Given the description of an element on the screen output the (x, y) to click on. 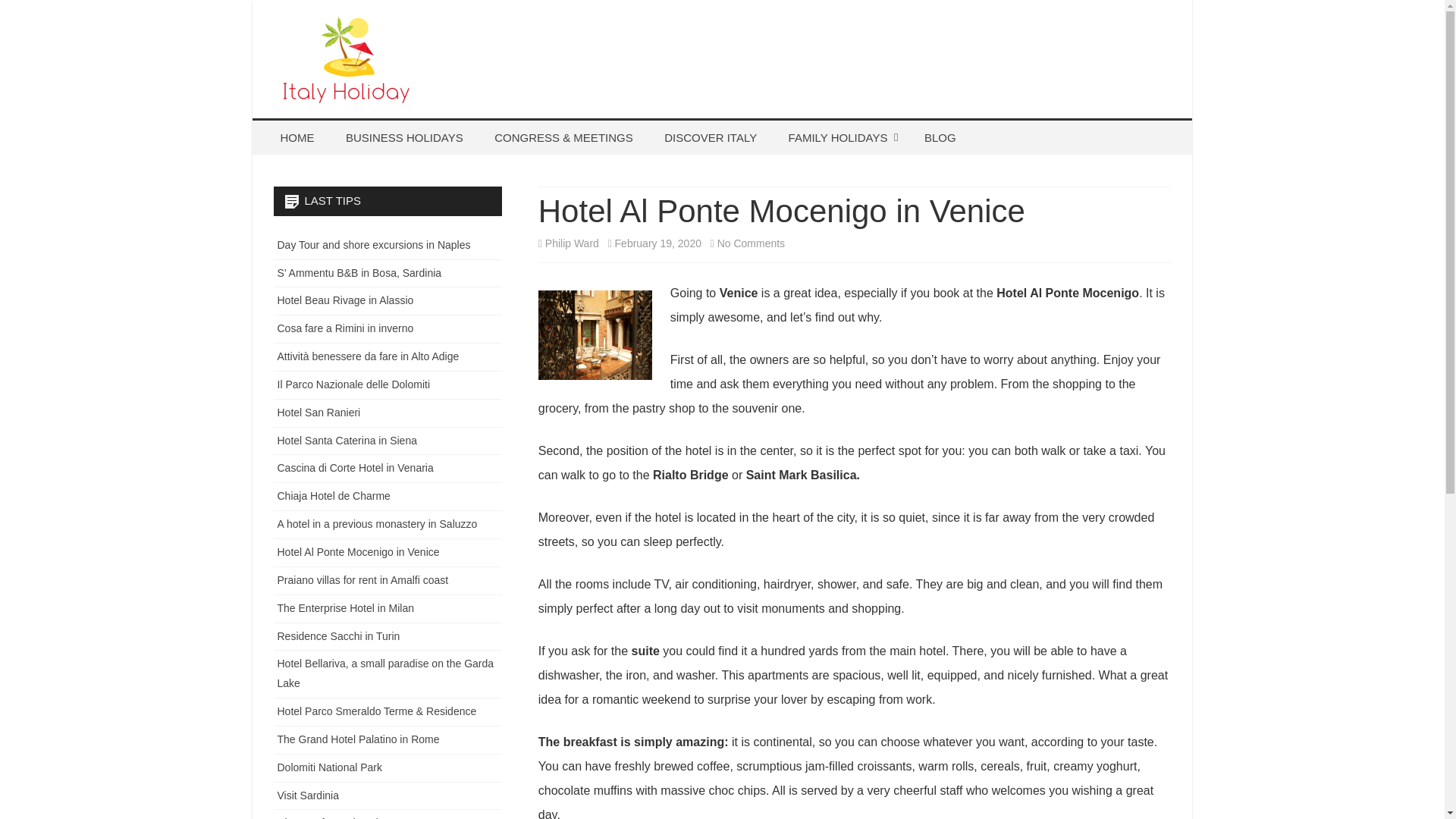
BUSINESS HOLIDAYS (404, 137)
Cosa fare a Rimini in inverno (345, 328)
Italy Holiday deals (383, 120)
Hotel Beau Rivage in Alassio (750, 243)
Philip Ward (345, 300)
Skip to content (571, 243)
HOME (354, 384)
UNCATEGORIZED (296, 137)
FAMILY HOLIDAYS (853, 172)
Day Tour and shore excursions in Naples (840, 137)
DISCOVER ITALY (374, 244)
Skip to content (710, 137)
